Given the description of an element on the screen output the (x, y) to click on. 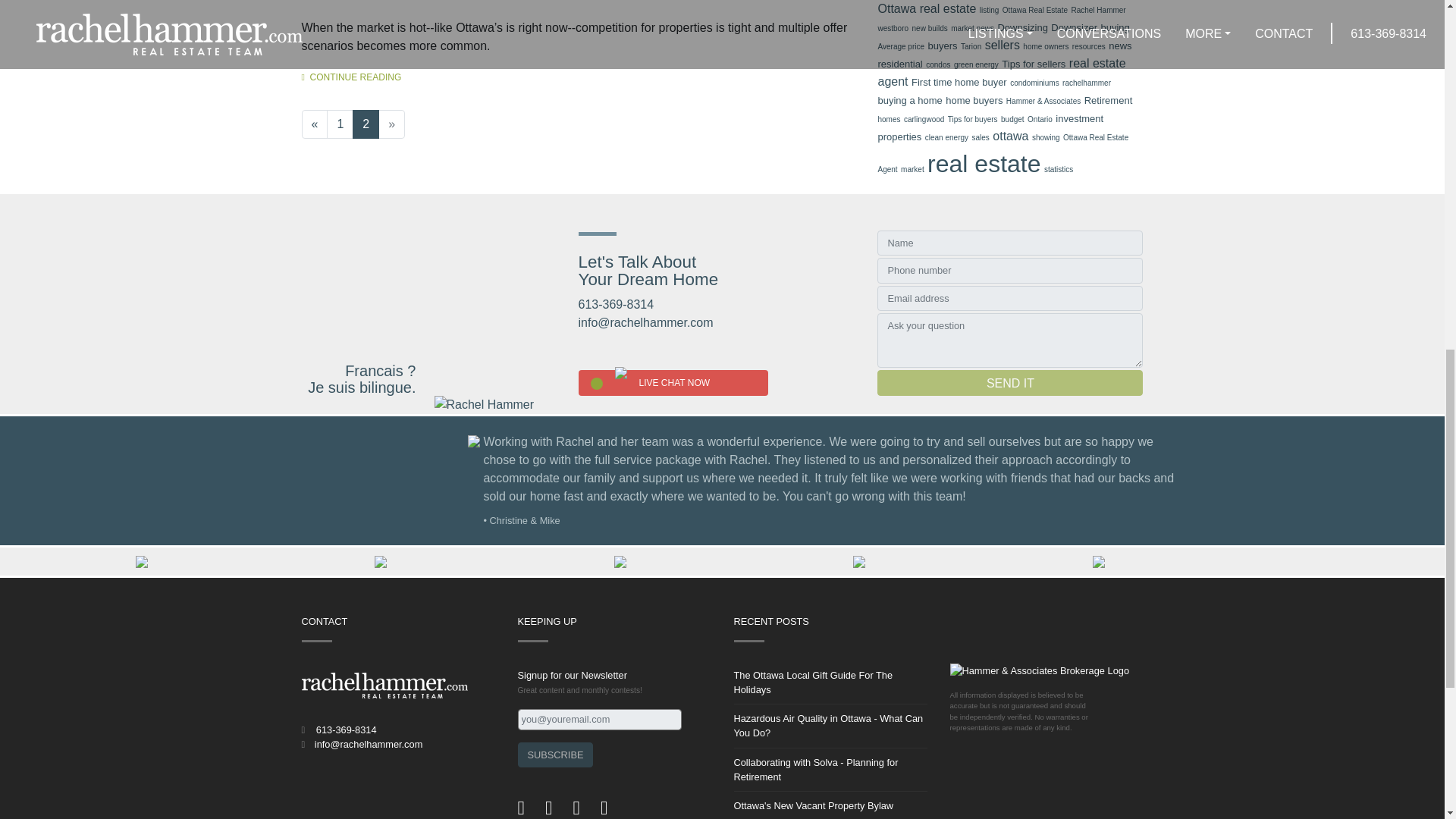
Subscribe (554, 754)
2 (365, 123)
1 (339, 123)
 CONTINUE READING (351, 77)
